Given the description of an element on the screen output the (x, y) to click on. 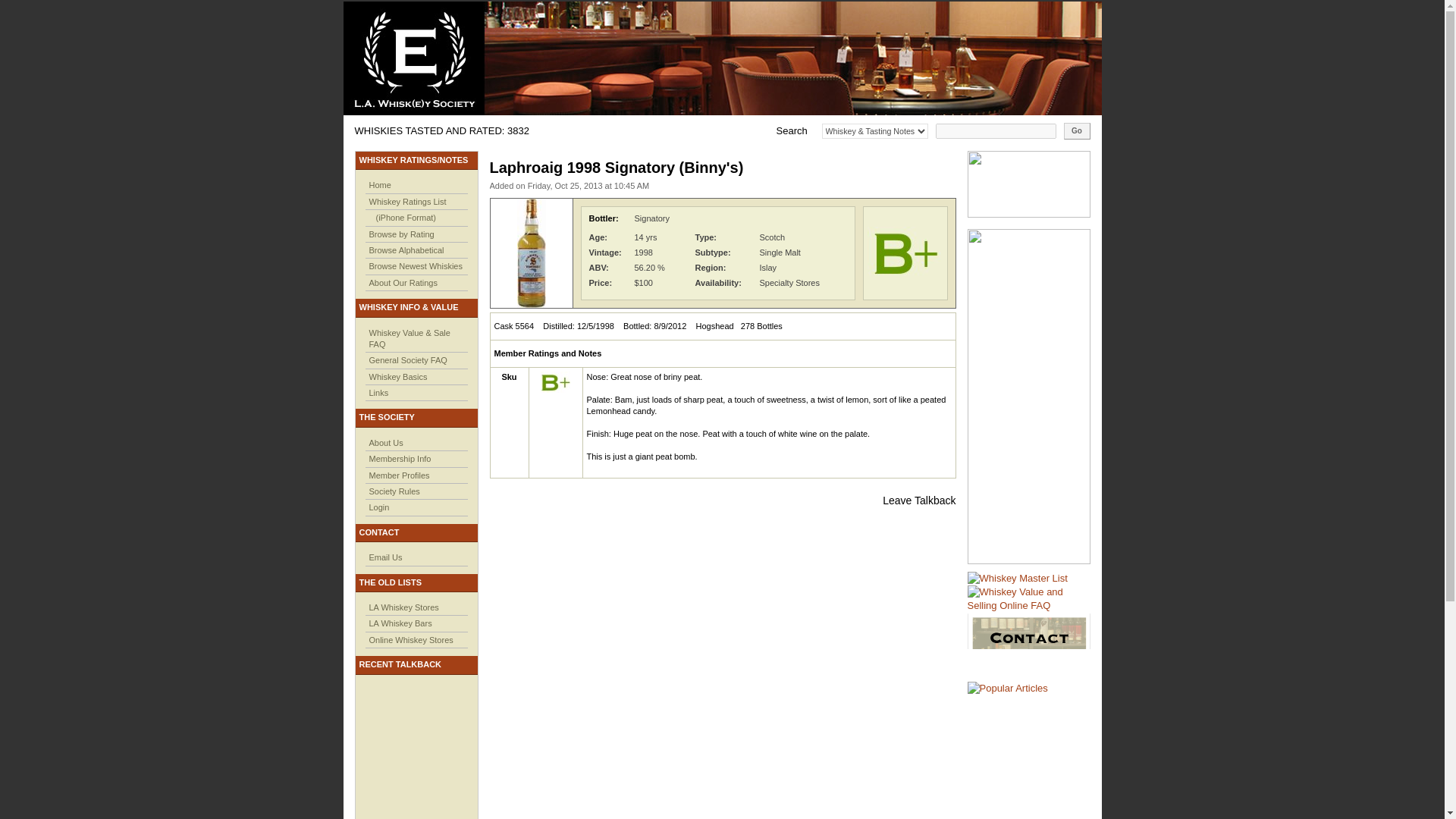
Bourbon and Other Whiskey Ratings (1017, 578)
Browse by Rating (400, 234)
Online Whiskey Stores (410, 639)
Member Profiles (398, 474)
Go (1075, 130)
Bourbon and other Whiskey Value and Selling FAQ (1029, 598)
Whiskey Basics (397, 376)
About Us (385, 442)
Membership Info (399, 458)
Sku (508, 376)
Society Rules (393, 491)
Whiskey Ratings List (406, 201)
Login (378, 506)
About Our Ratings (403, 282)
Links (378, 392)
